Given the description of an element on the screen output the (x, y) to click on. 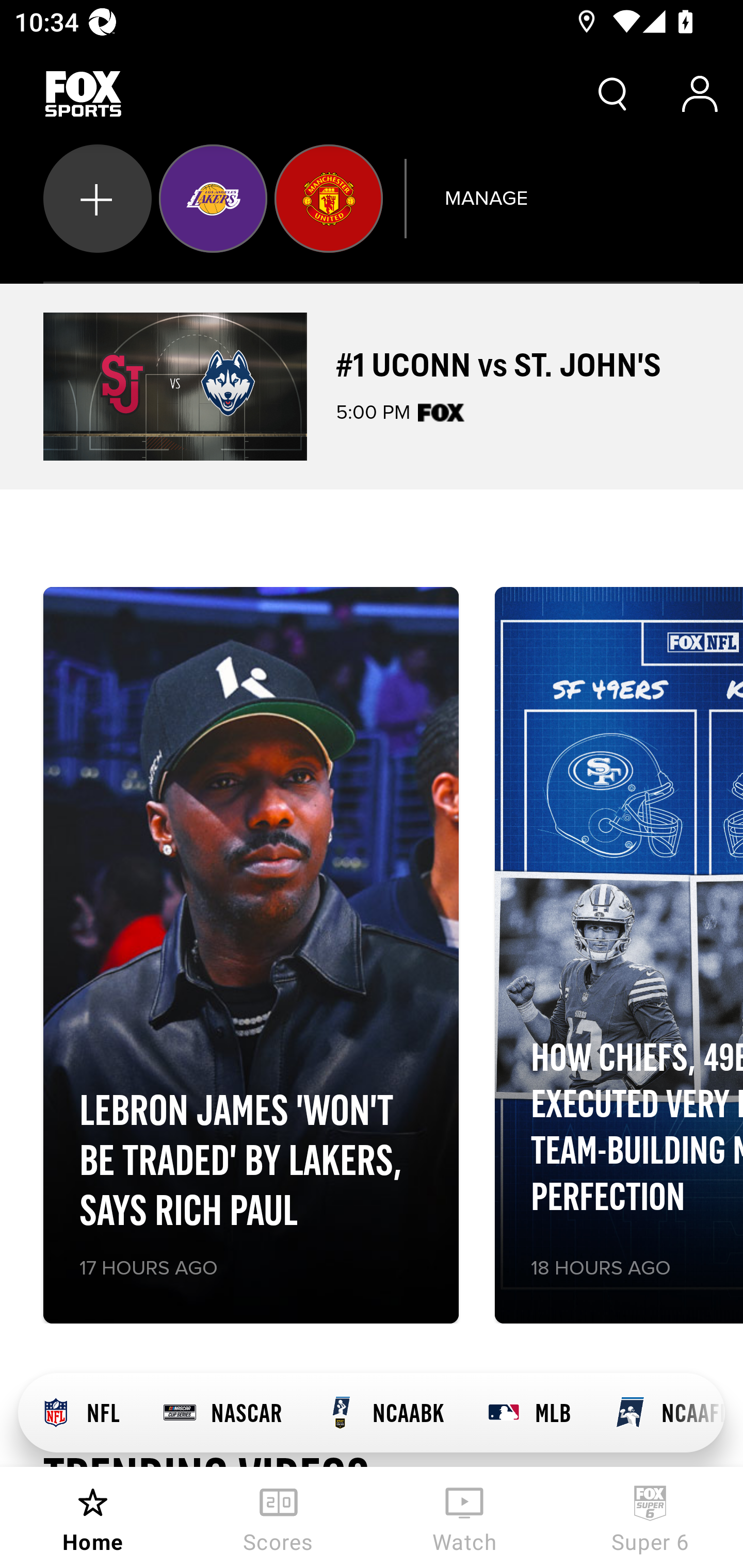
Search (612, 93)
Account (699, 93)
MANAGE (485, 198)
#1 UCONN vs ST. JOHN'S 5:00 PM (371, 386)
NFL (79, 1412)
NASCAR (222, 1412)
NCAABK (384, 1412)
MLB (528, 1412)
NCAAFB (658, 1412)
Scores (278, 1517)
Watch (464, 1517)
Super 6 (650, 1517)
